Given the description of an element on the screen output the (x, y) to click on. 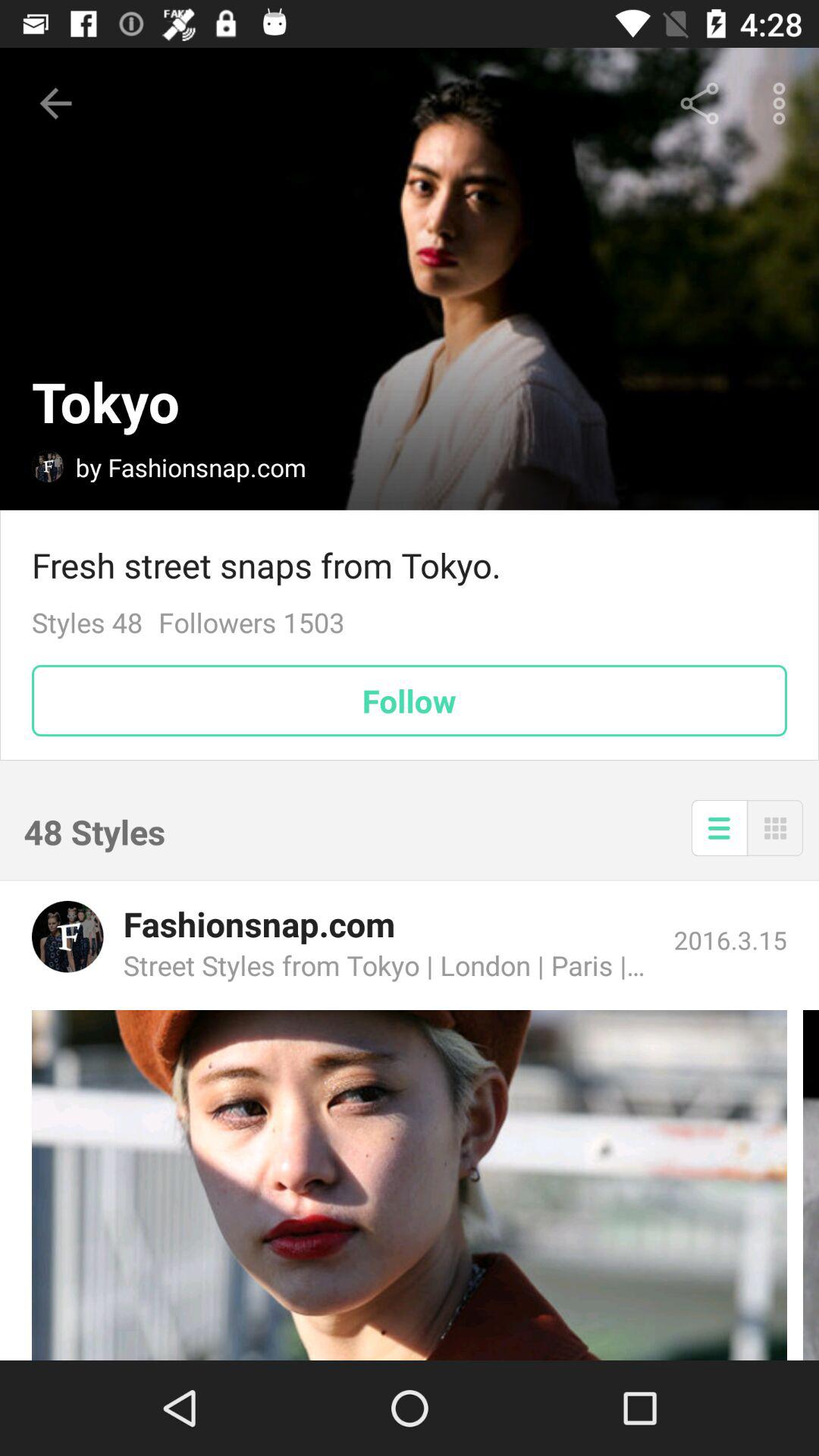
turn off the icon below the follow (718, 827)
